Given the description of an element on the screen output the (x, y) to click on. 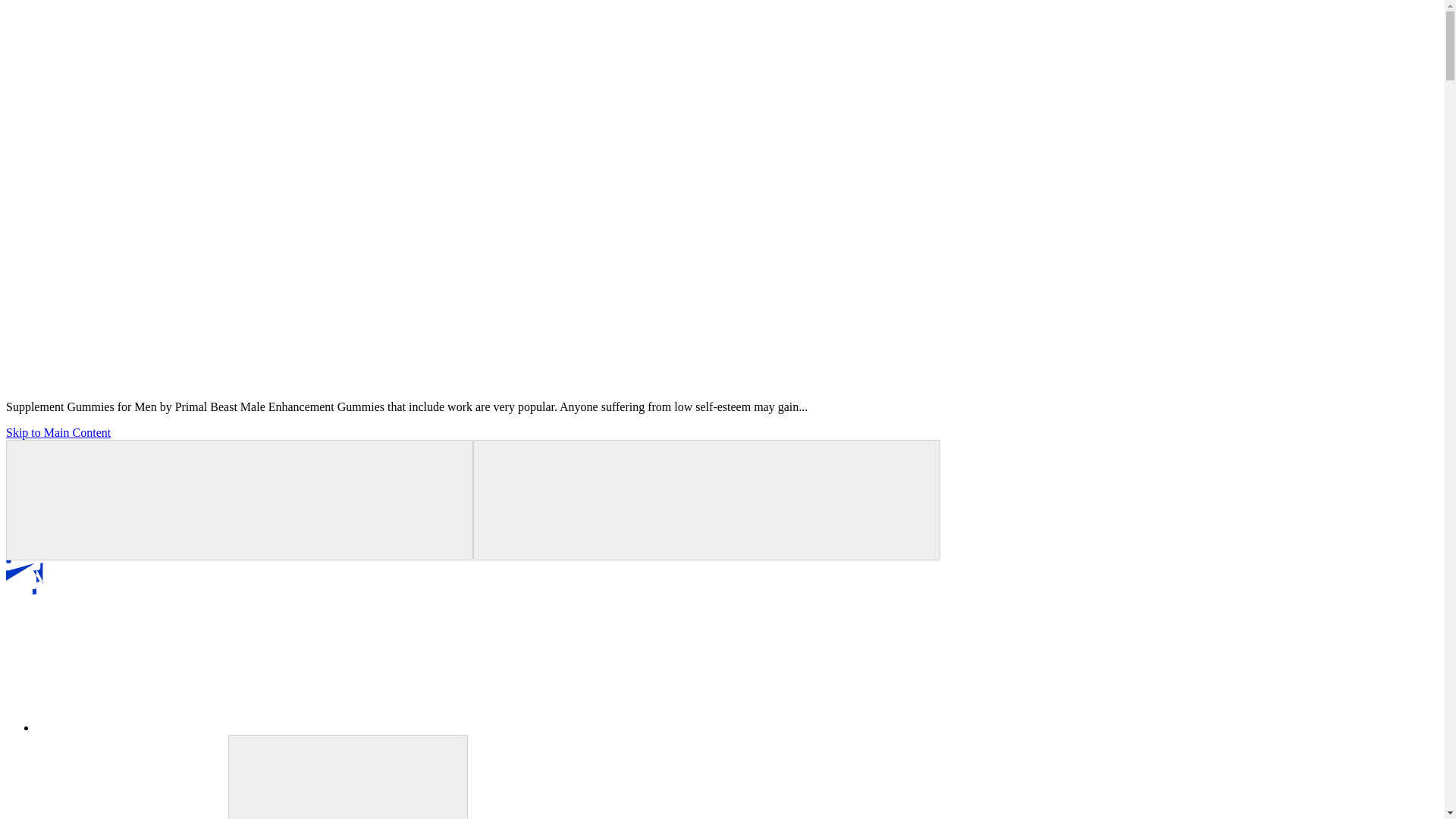
Skip to Main Content (57, 431)
